Given the description of an element on the screen output the (x, y) to click on. 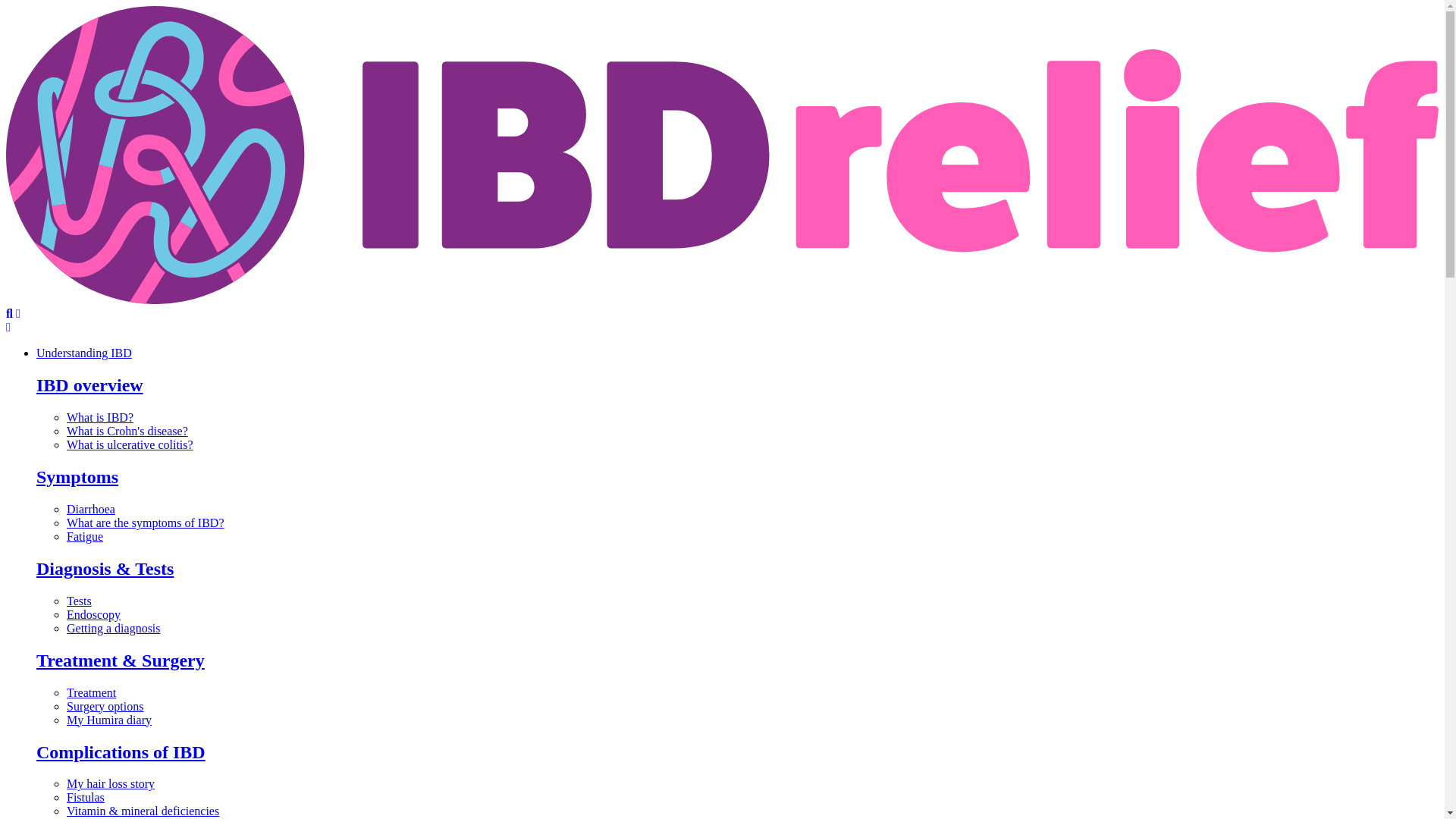
Endoscopy (93, 614)
What are the symptoms of IBD? (145, 522)
Surgery options (104, 706)
Symptoms (76, 476)
Understanding IBD (84, 352)
Diarrhoea (90, 508)
Treatment (91, 692)
Fistulas (85, 797)
Getting a diagnosis (113, 627)
